Given the description of an element on the screen output the (x, y) to click on. 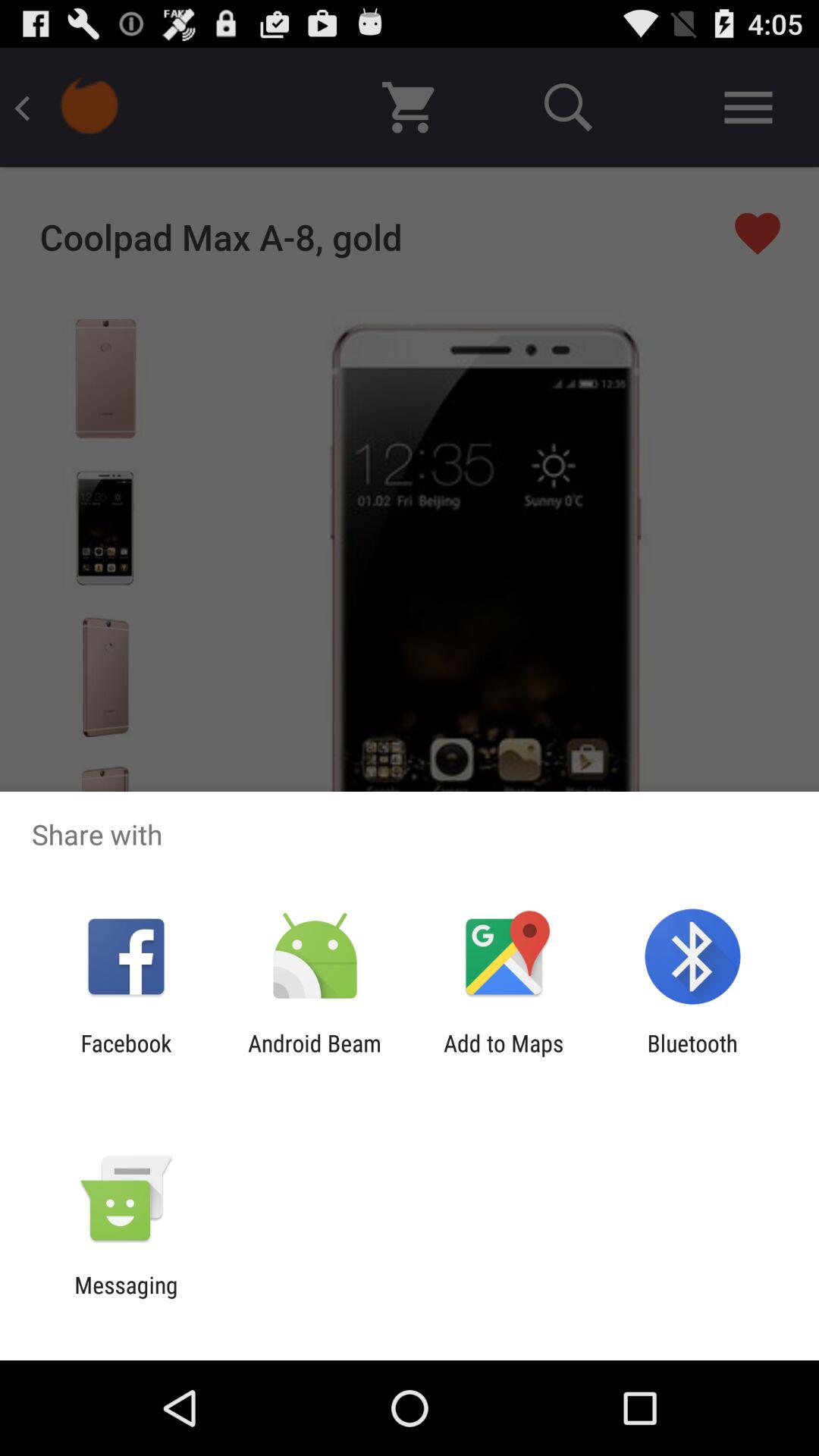
launch the bluetooth (692, 1056)
